Given the description of an element on the screen output the (x, y) to click on. 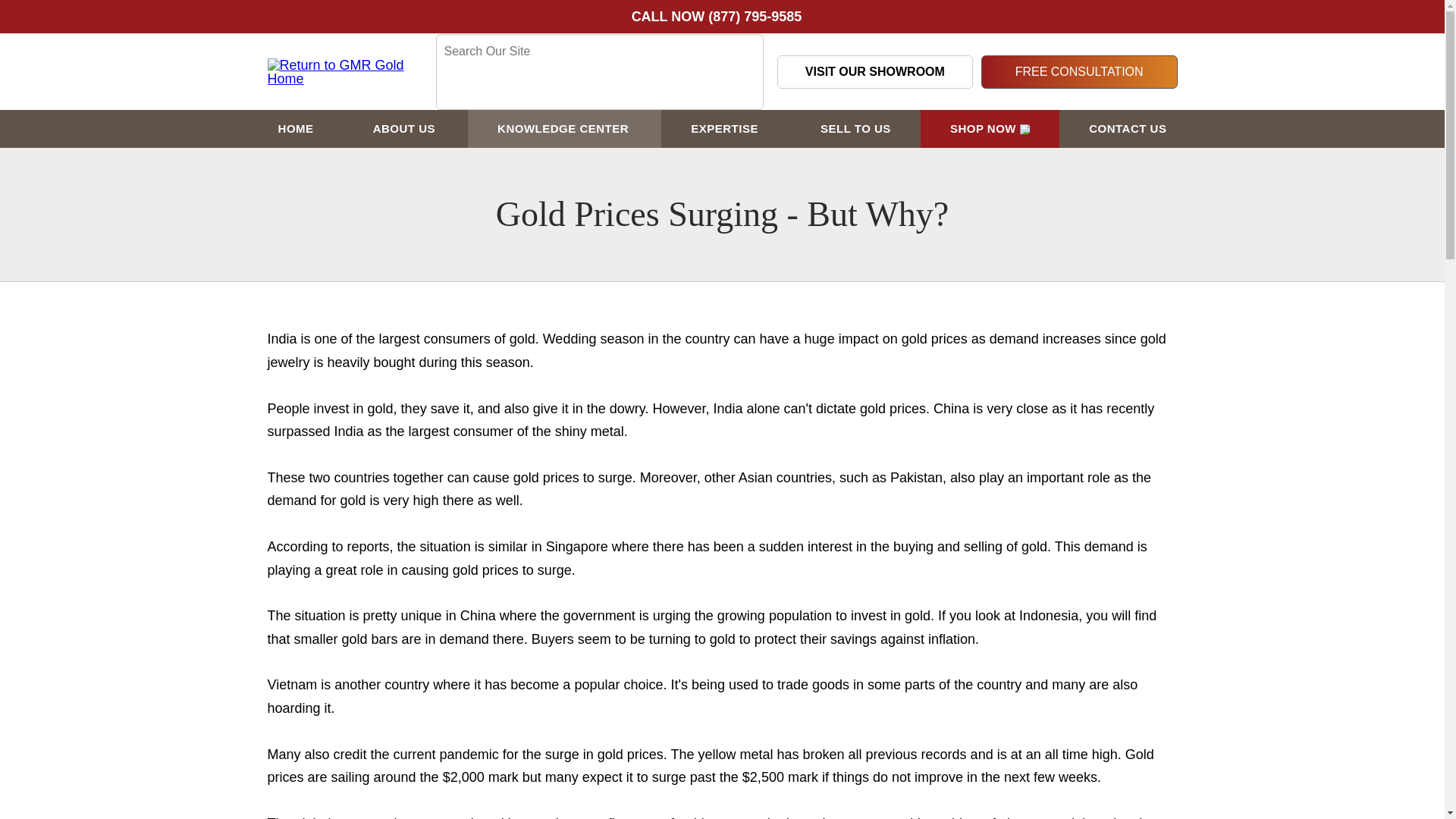
Search (451, 84)
CONTACT US (1127, 128)
HOME (295, 128)
SHOP NOW (989, 128)
VISIT OUR SHOWROOM (874, 71)
FREE CONSULTATION (1079, 71)
SELL TO US (855, 128)
EXPERTISE (725, 128)
ABOUT US (405, 128)
KNOWLEDGE CENTER (564, 128)
